Given the description of an element on the screen output the (x, y) to click on. 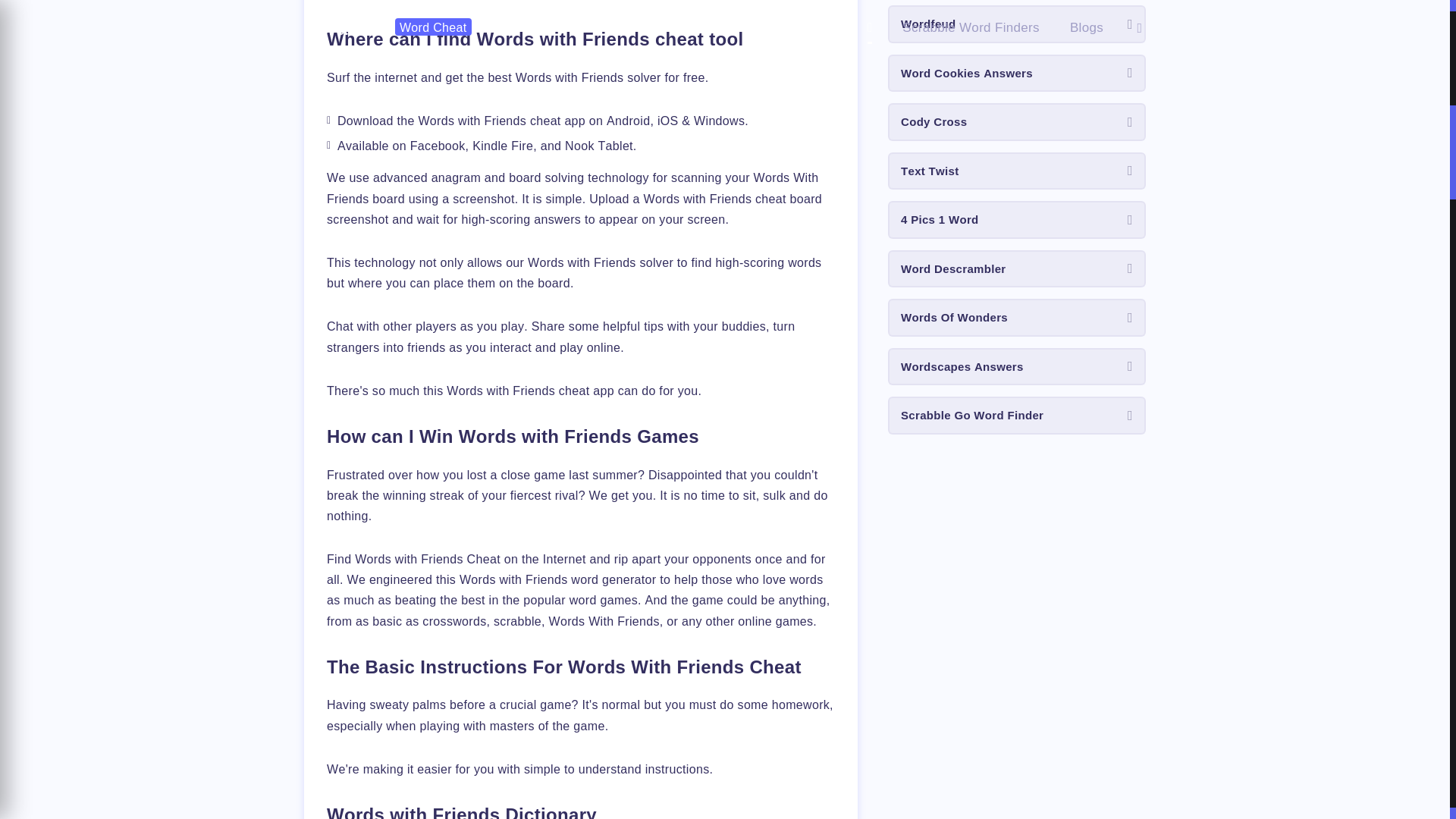
Cody Cross (1016, 121)
Words Of Wonders (1016, 317)
Scrabble Go Word Finder (1016, 415)
Word Cookies Answers (1016, 73)
Wordfeud (1016, 23)
Wordscapes Answers (1016, 366)
Word Descrambler (1016, 269)
Text Twist (1016, 171)
4 Pics 1 Word (1016, 219)
